Given the description of an element on the screen output the (x, y) to click on. 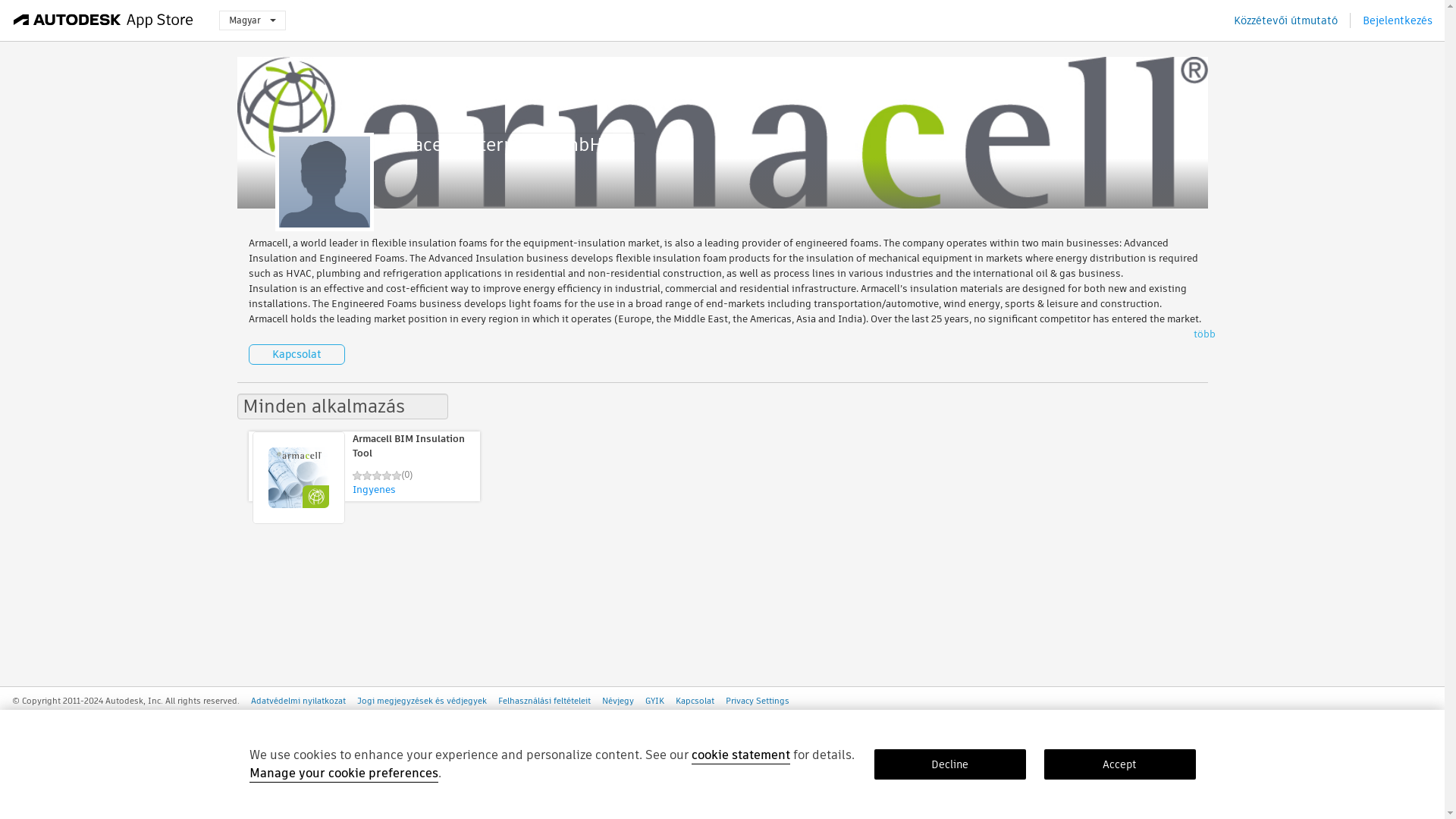
Privacy Settings (757, 700)
Kapcsolat (296, 353)
Autodesk App Store (103, 20)
Kapcsolat (694, 700)
GYIK (654, 700)
Magyar (252, 20)
Armacell Enterprise GmbH (508, 144)
